Given the description of an element on the screen output the (x, y) to click on. 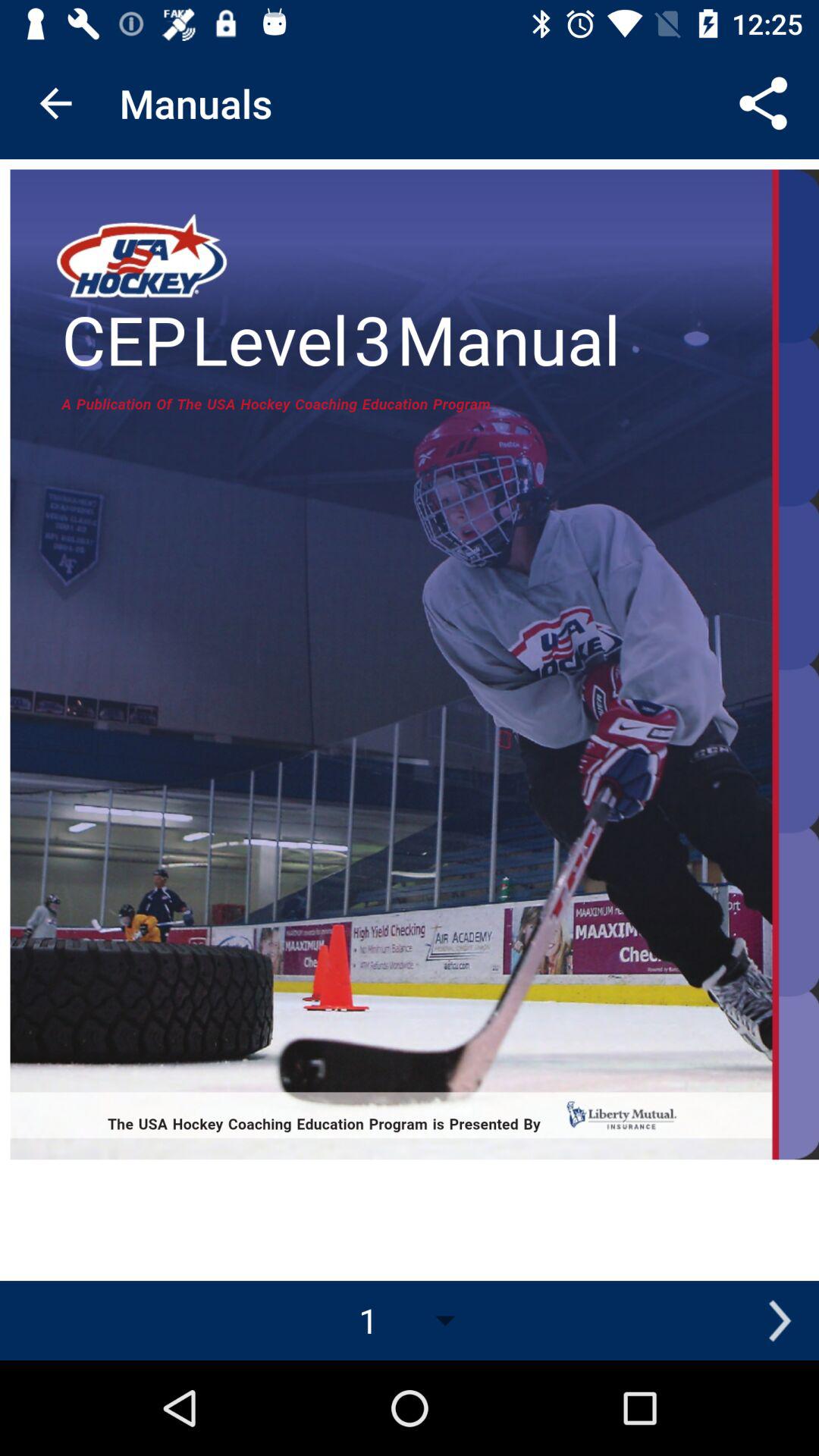
go to next page (779, 1320)
